Given the description of an element on the screen output the (x, y) to click on. 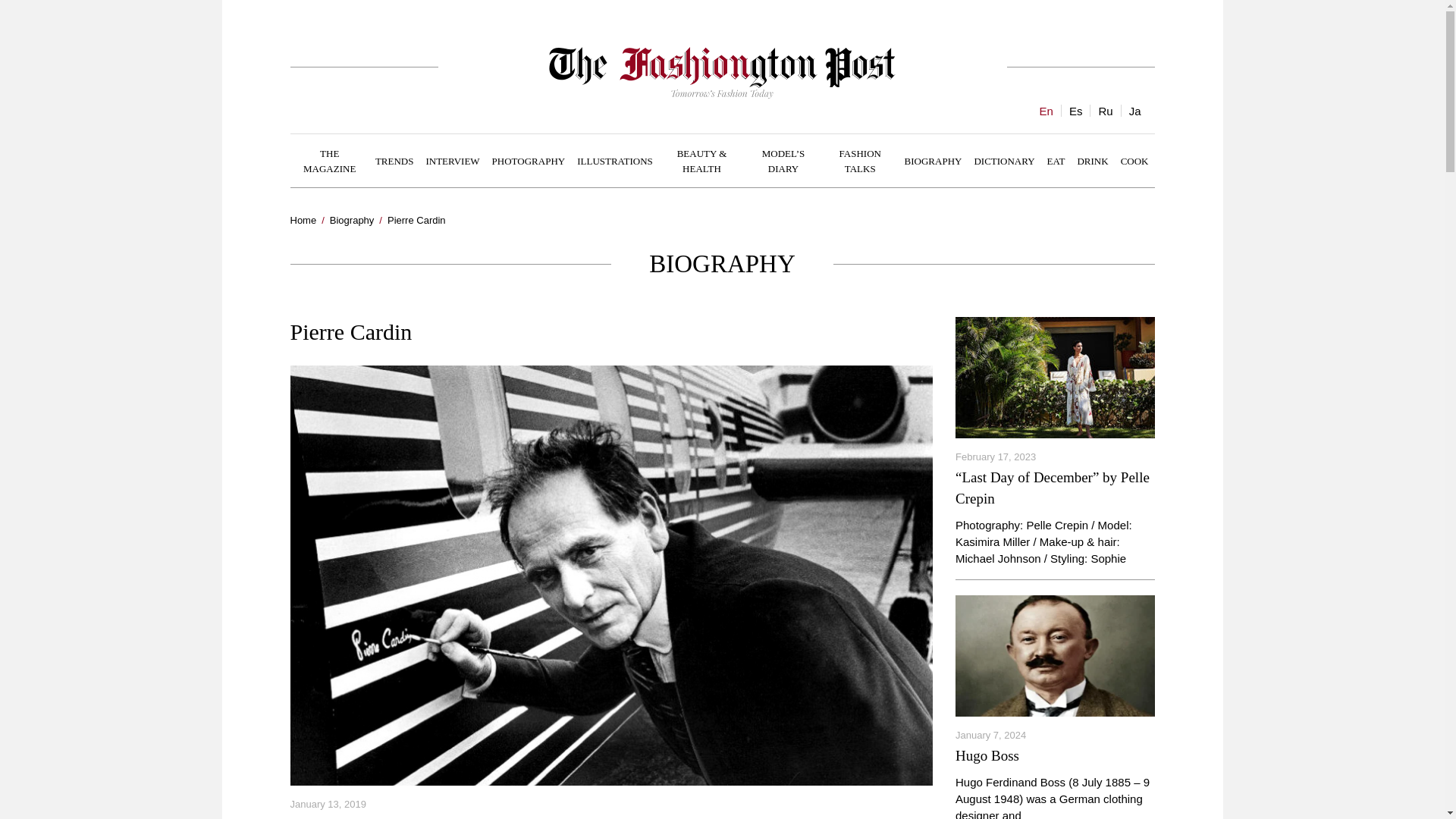
Es (1075, 110)
BIOGRAPHY (933, 160)
PHOTOGRAPHY (529, 160)
DICTIONARY (1004, 160)
ILLUSTRATIONS (614, 160)
FASHION TALKS (860, 160)
COOK (1134, 160)
THE MAGAZINE (328, 160)
INTERVIEW (451, 160)
DRINK (1091, 160)
